Given the description of an element on the screen output the (x, y) to click on. 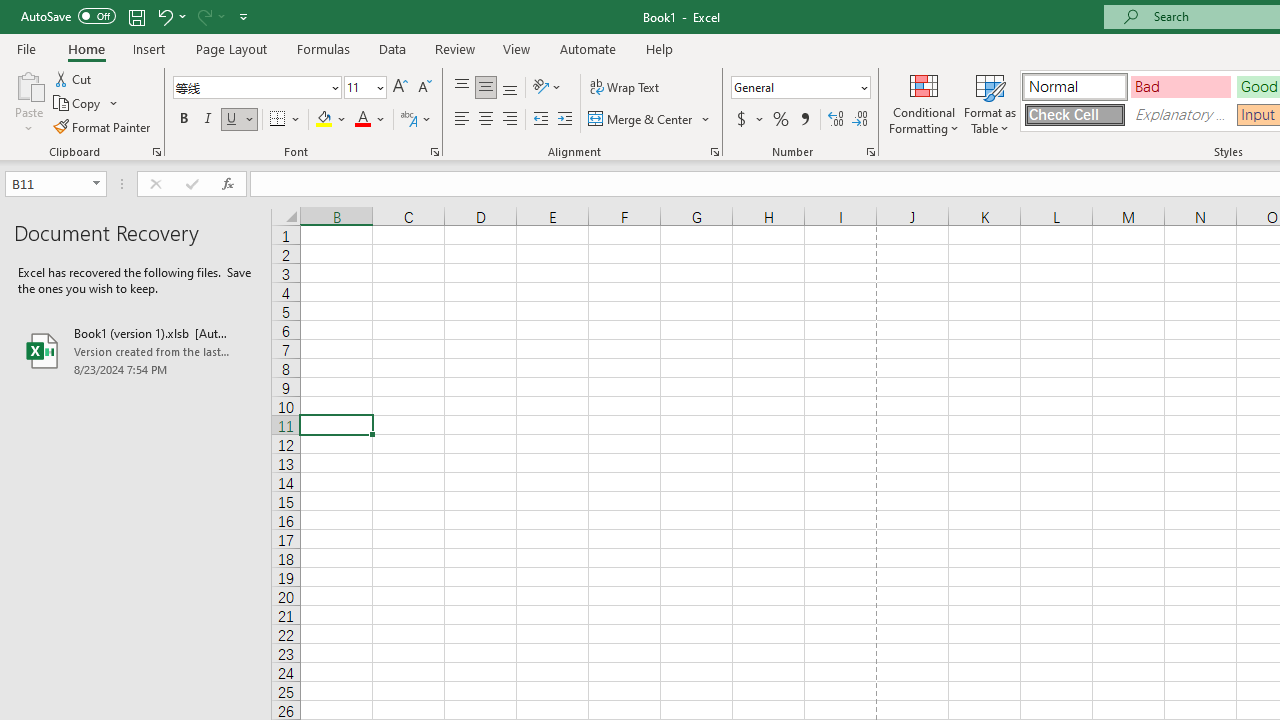
Formulas (323, 48)
View (517, 48)
Font Color RGB(255, 0, 0) (362, 119)
Review (454, 48)
Bold (183, 119)
Merge & Center (649, 119)
Fill Color (331, 119)
Align Right (509, 119)
Quick Access Toolbar (136, 16)
Bad (1180, 86)
Format Painter (103, 126)
Redo (209, 15)
Accounting Number Format (741, 119)
Fill Color RGB(255, 255, 0) (324, 119)
Normal (1074, 86)
